Given the description of an element on the screen output the (x, y) to click on. 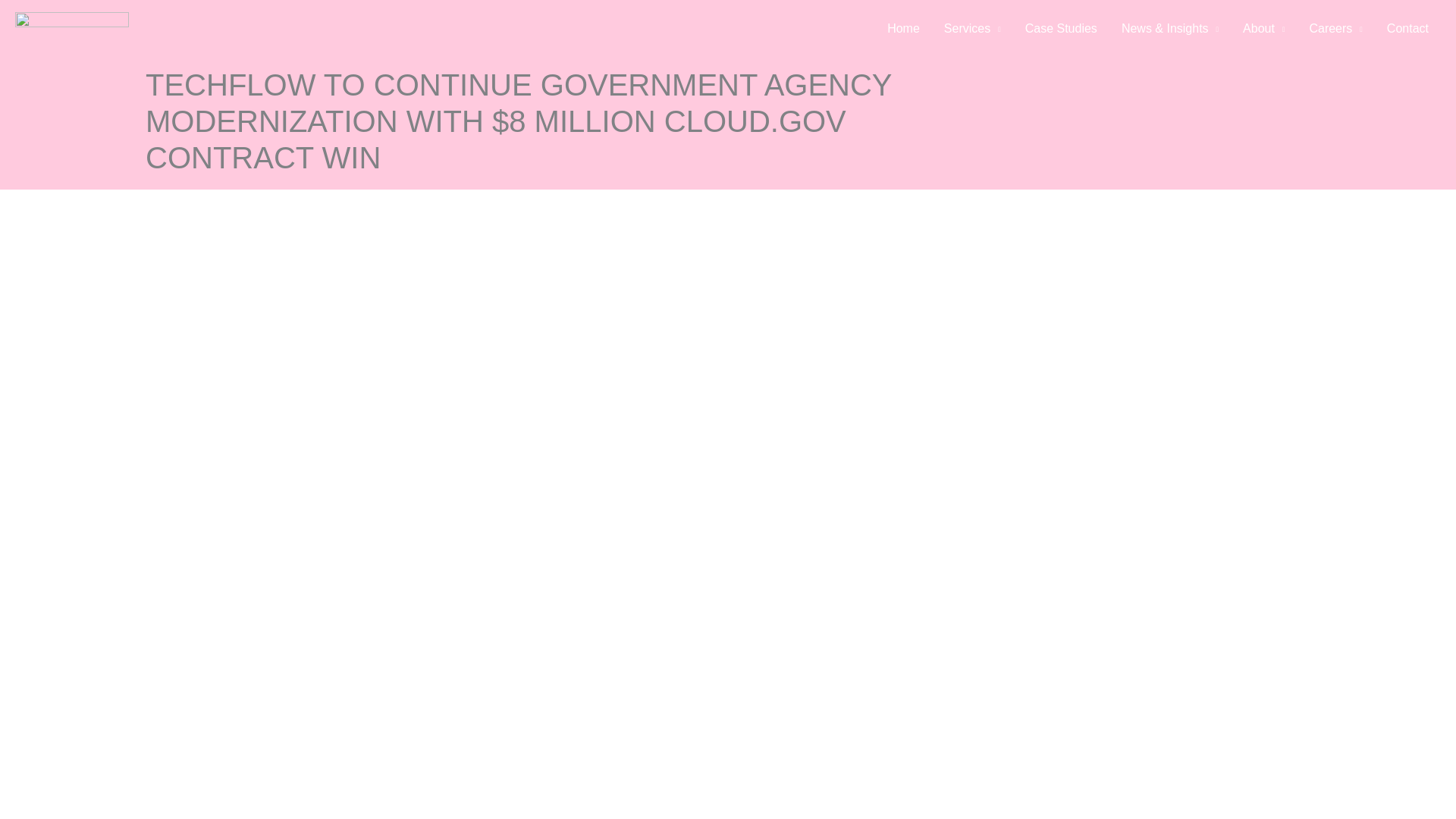
About (1263, 28)
Contact (1407, 28)
Services (972, 28)
Case Studies (1061, 28)
Home (903, 28)
Careers (1335, 28)
